Given the description of an element on the screen output the (x, y) to click on. 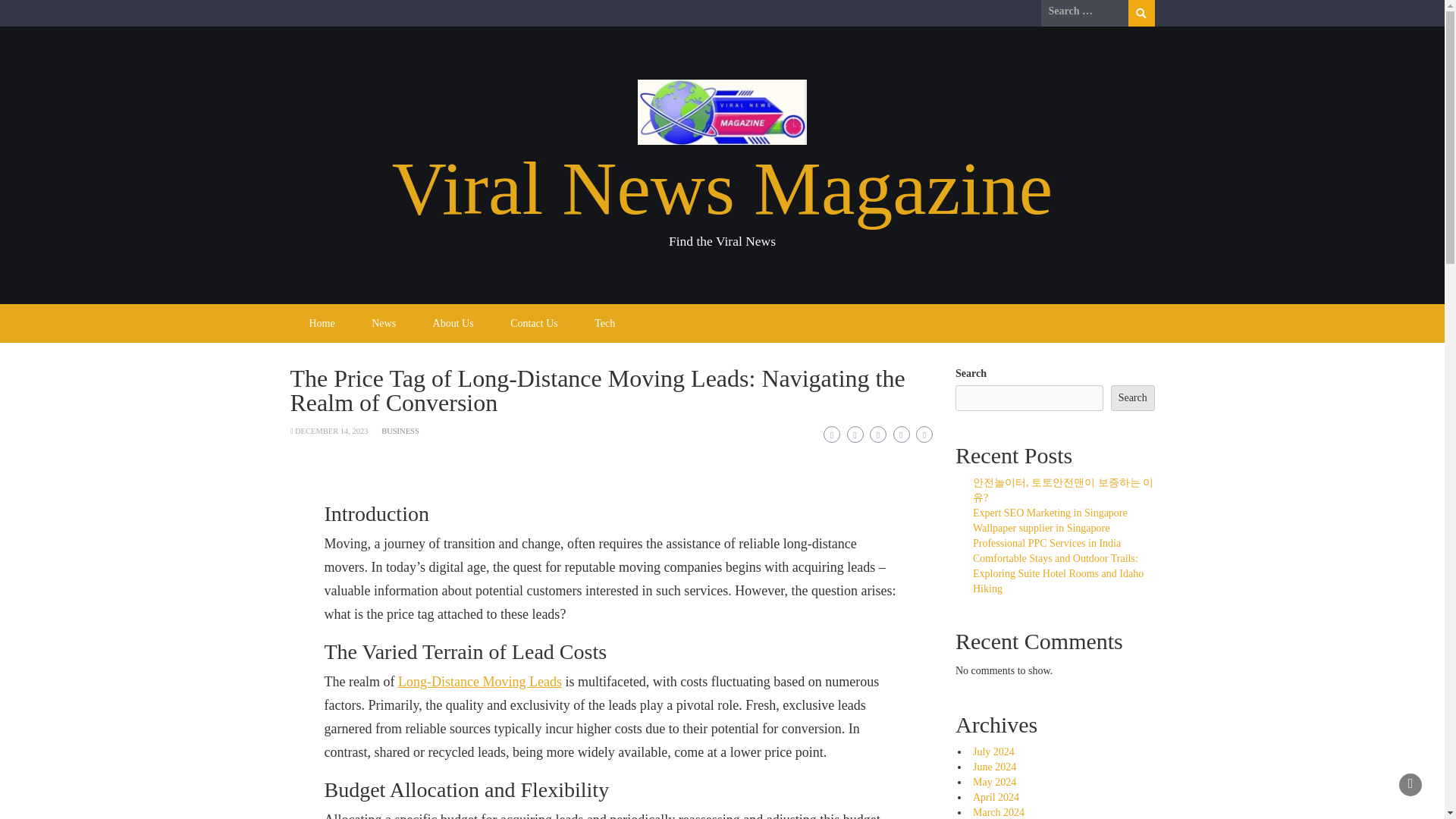
May 2024 (994, 781)
Contact Us (534, 323)
DECEMBER 14, 2023 (331, 430)
Expert SEO Marketing in Singapore (1049, 512)
Professional PPC Services in India (1046, 542)
Home (322, 323)
Search (1141, 13)
July 2024 (993, 751)
June 2024 (994, 767)
Tech (604, 323)
Search (1141, 13)
About Us (453, 323)
BUSINESS (400, 430)
April 2024 (995, 797)
Wallpaper supplier in Singapore (1040, 527)
